Given the description of an element on the screen output the (x, y) to click on. 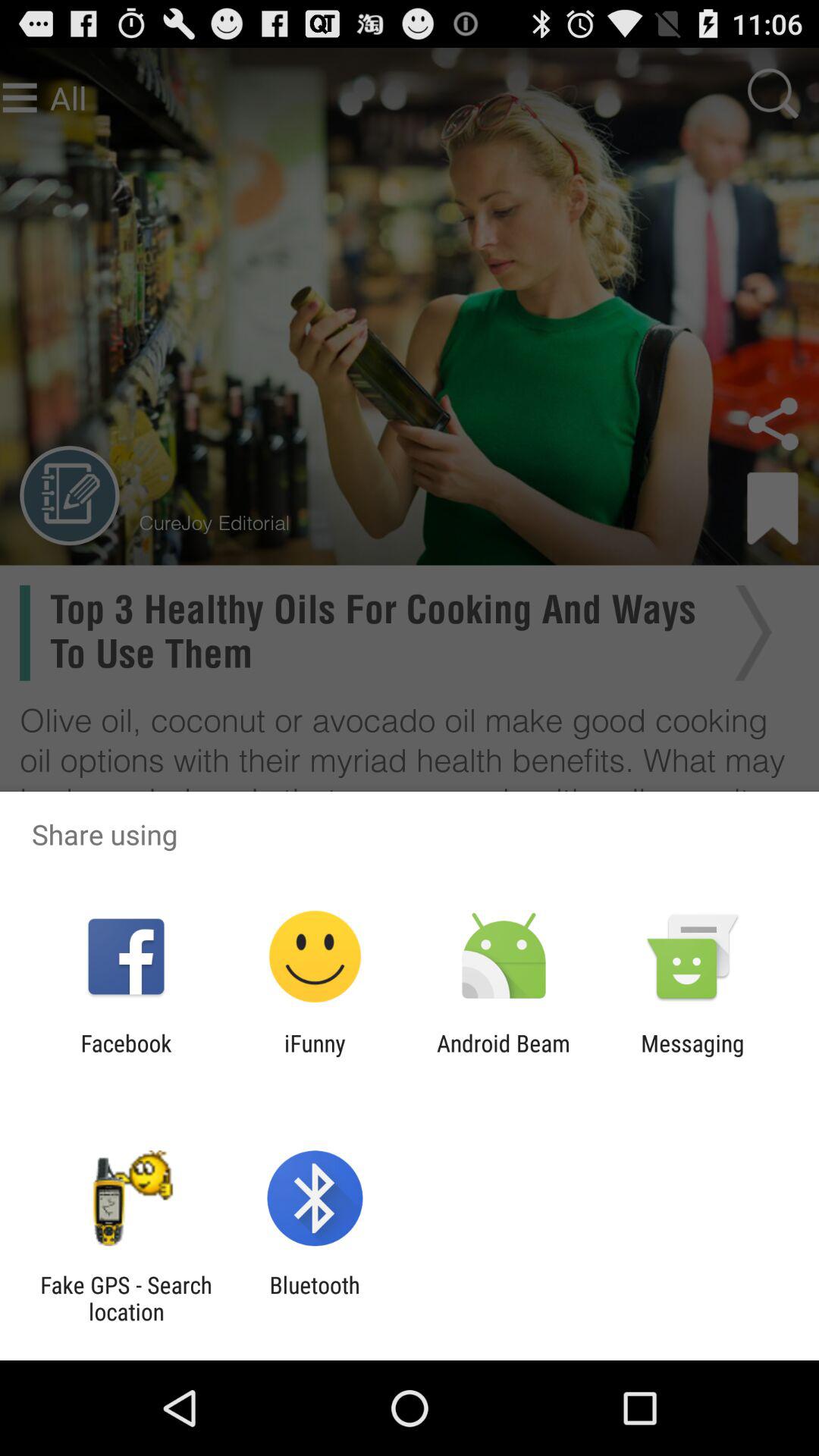
tap item to the right of fake gps search item (314, 1298)
